Given the description of an element on the screen output the (x, y) to click on. 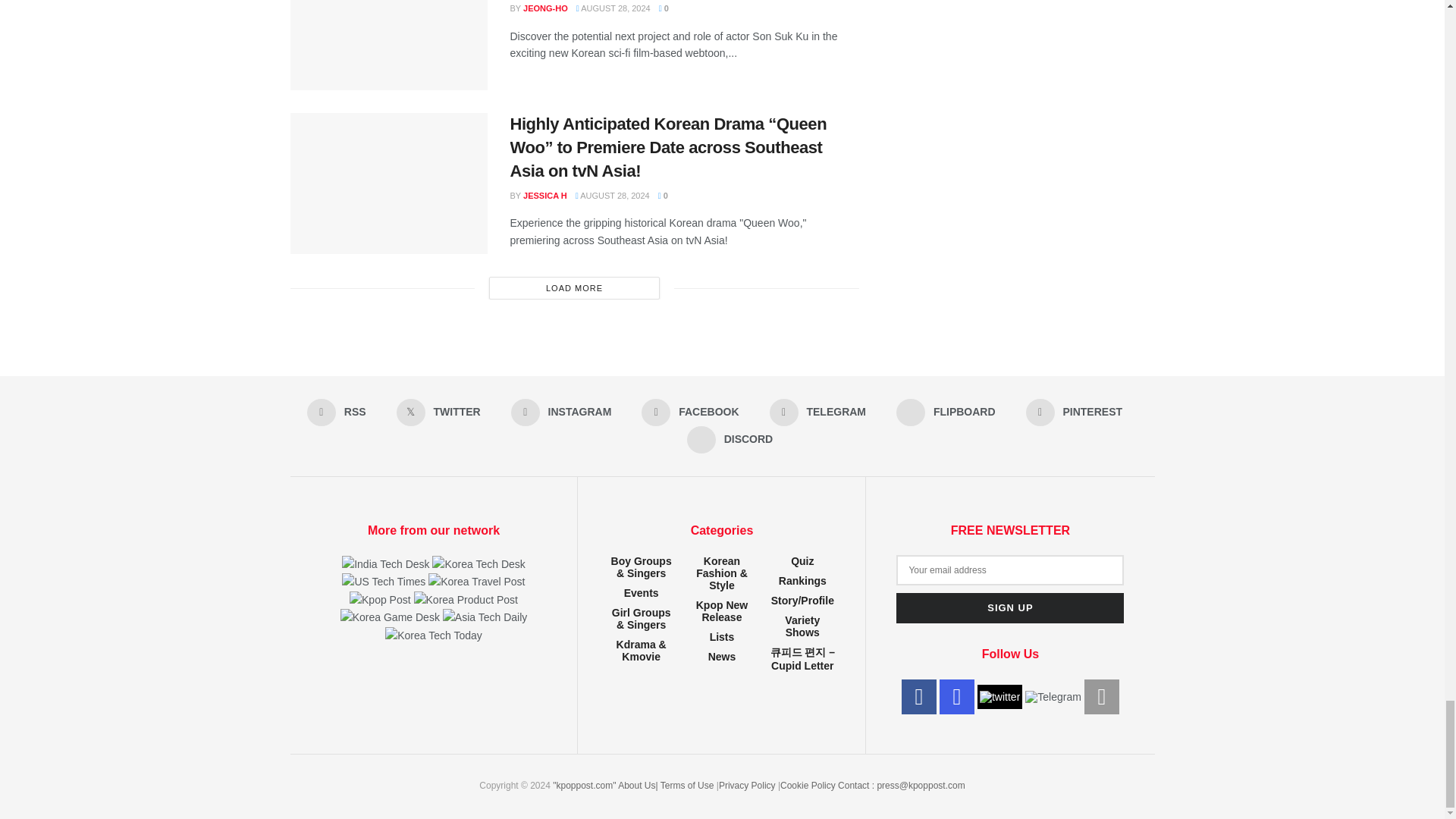
Telegram (1053, 696)
facebook (918, 696)
twitter (999, 695)
instagram (956, 696)
Discord (1101, 696)
Telegram (1053, 695)
twitter (999, 696)
Sign up (1010, 607)
